Given the description of an element on the screen output the (x, y) to click on. 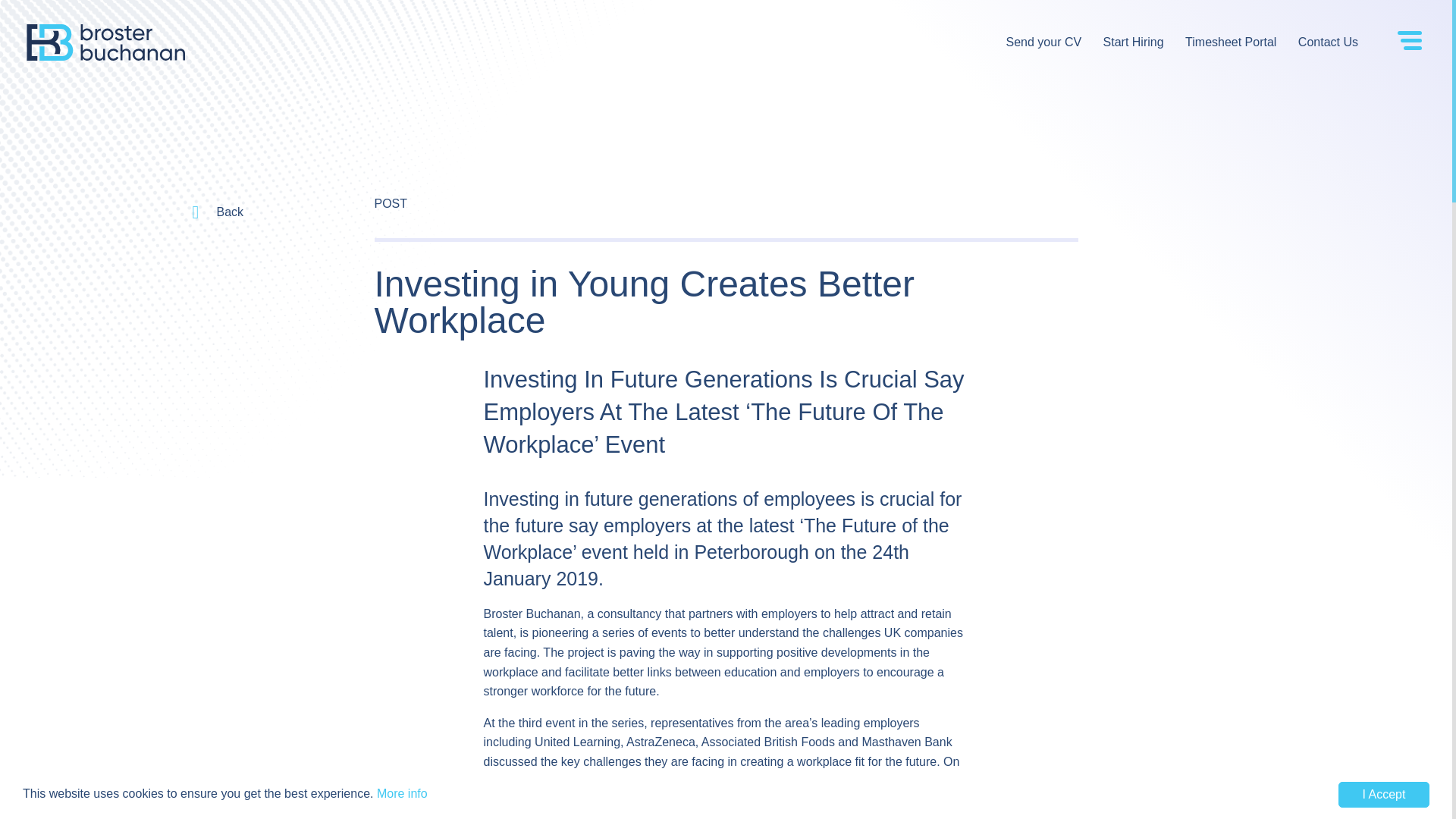
Timesheet Portal (1230, 42)
Contact Us (1327, 42)
Start Hiring (1133, 42)
Back (242, 212)
POST (390, 203)
Send your CV (1043, 42)
